Given the description of an element on the screen output the (x, y) to click on. 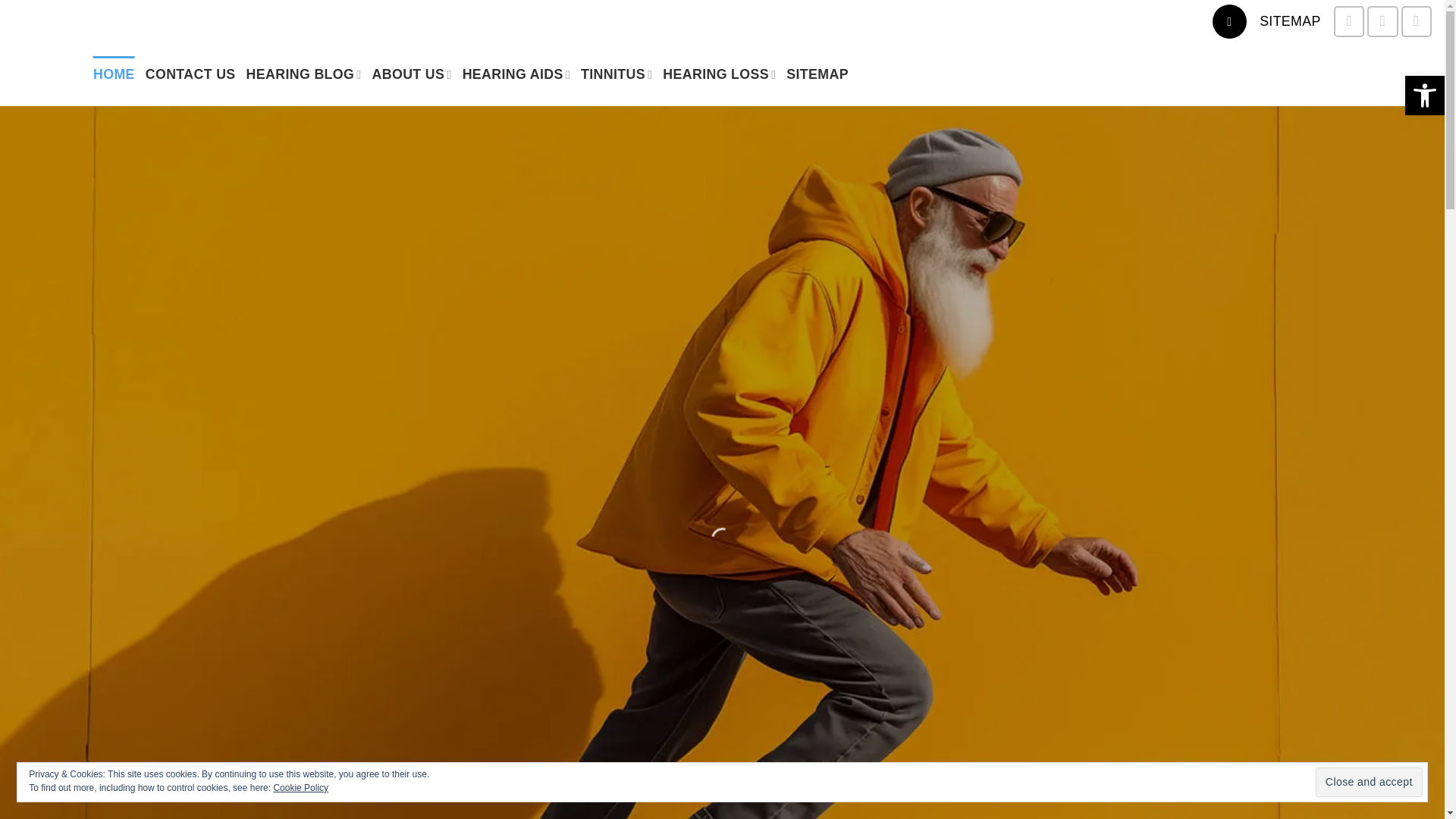
Call us (1382, 20)
Send us an email (1348, 20)
Close and accept (1369, 781)
Accessibility Tools (1424, 95)
Brampton Audiology - Hearing Health (40, 74)
SITEMAP (1289, 21)
Follow on LinkedIn (1415, 20)
